Given the description of an element on the screen output the (x, y) to click on. 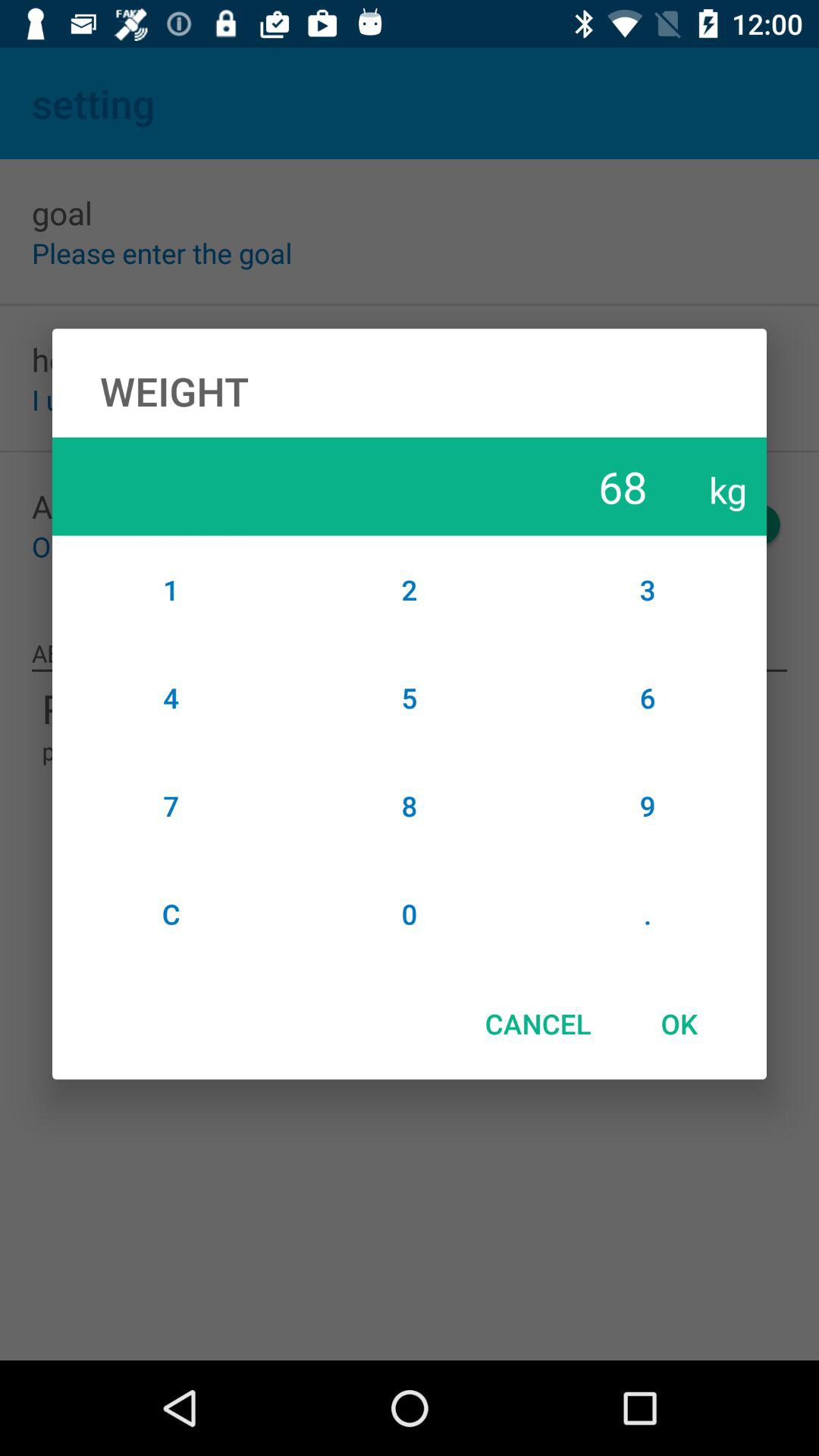
turn off the item next to 2 item (647, 697)
